Given the description of an element on the screen output the (x, y) to click on. 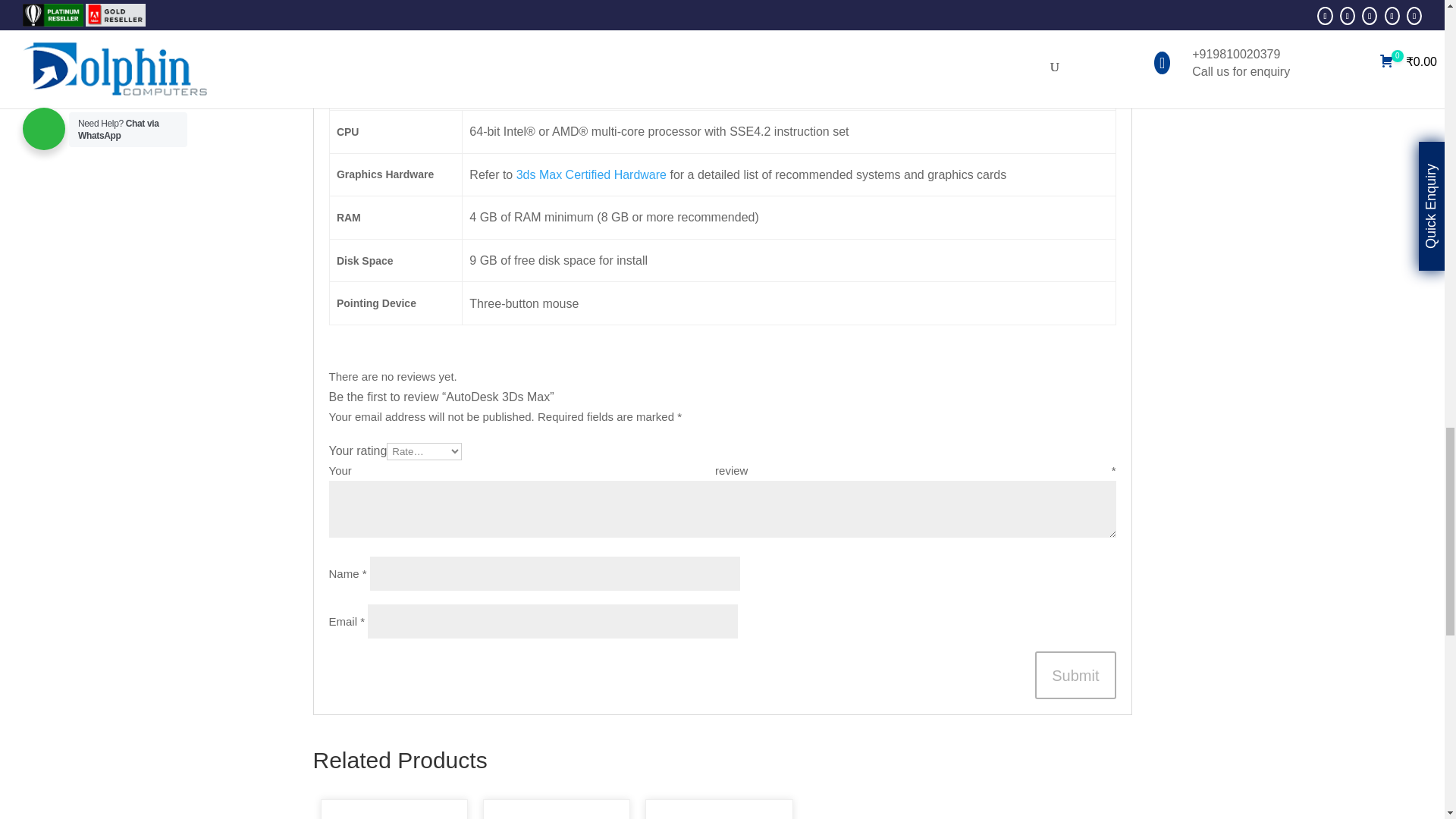
Submit (1075, 675)
